Given the description of an element on the screen output the (x, y) to click on. 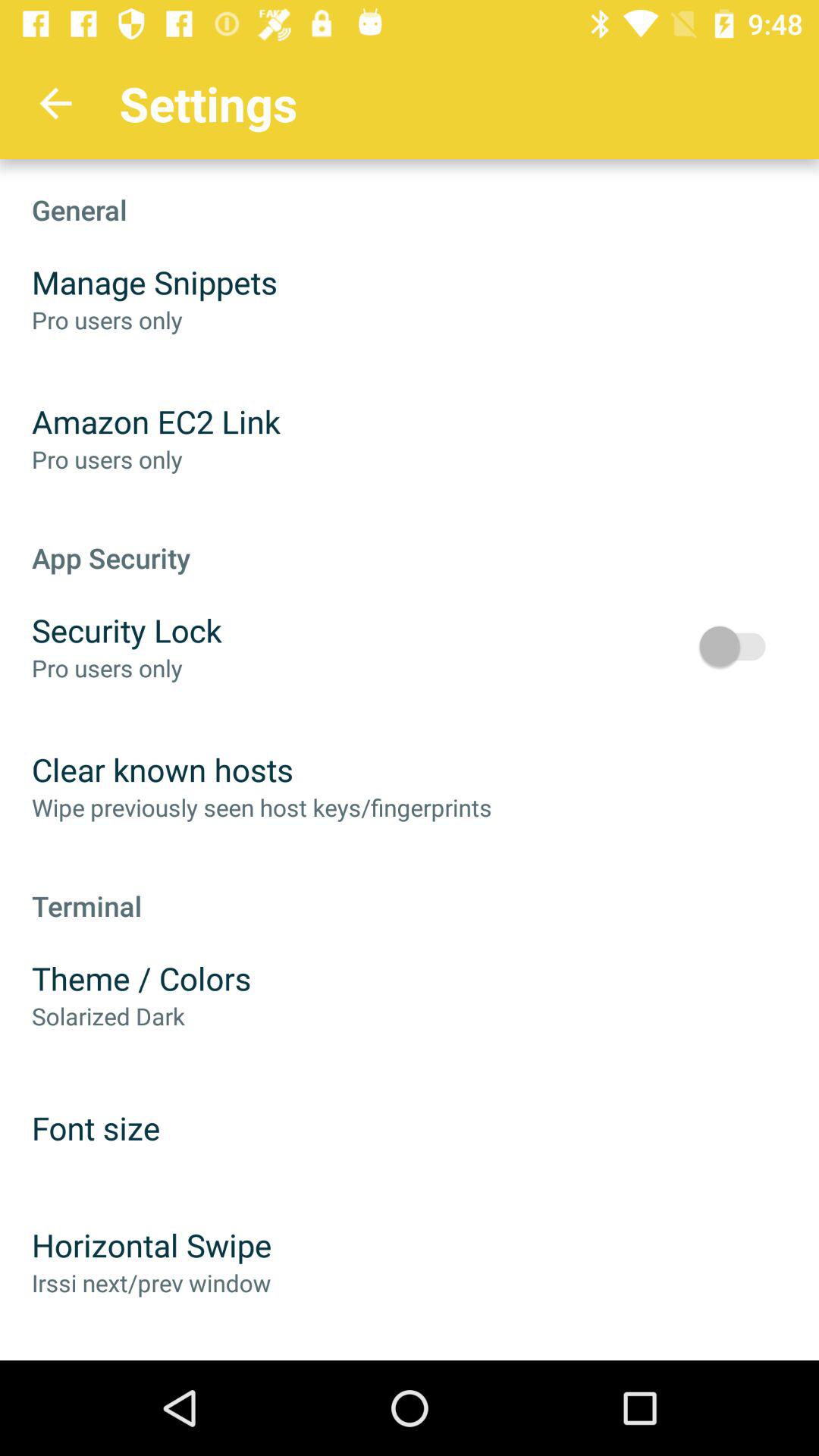
turn on item above terminal (739, 646)
